Given the description of an element on the screen output the (x, y) to click on. 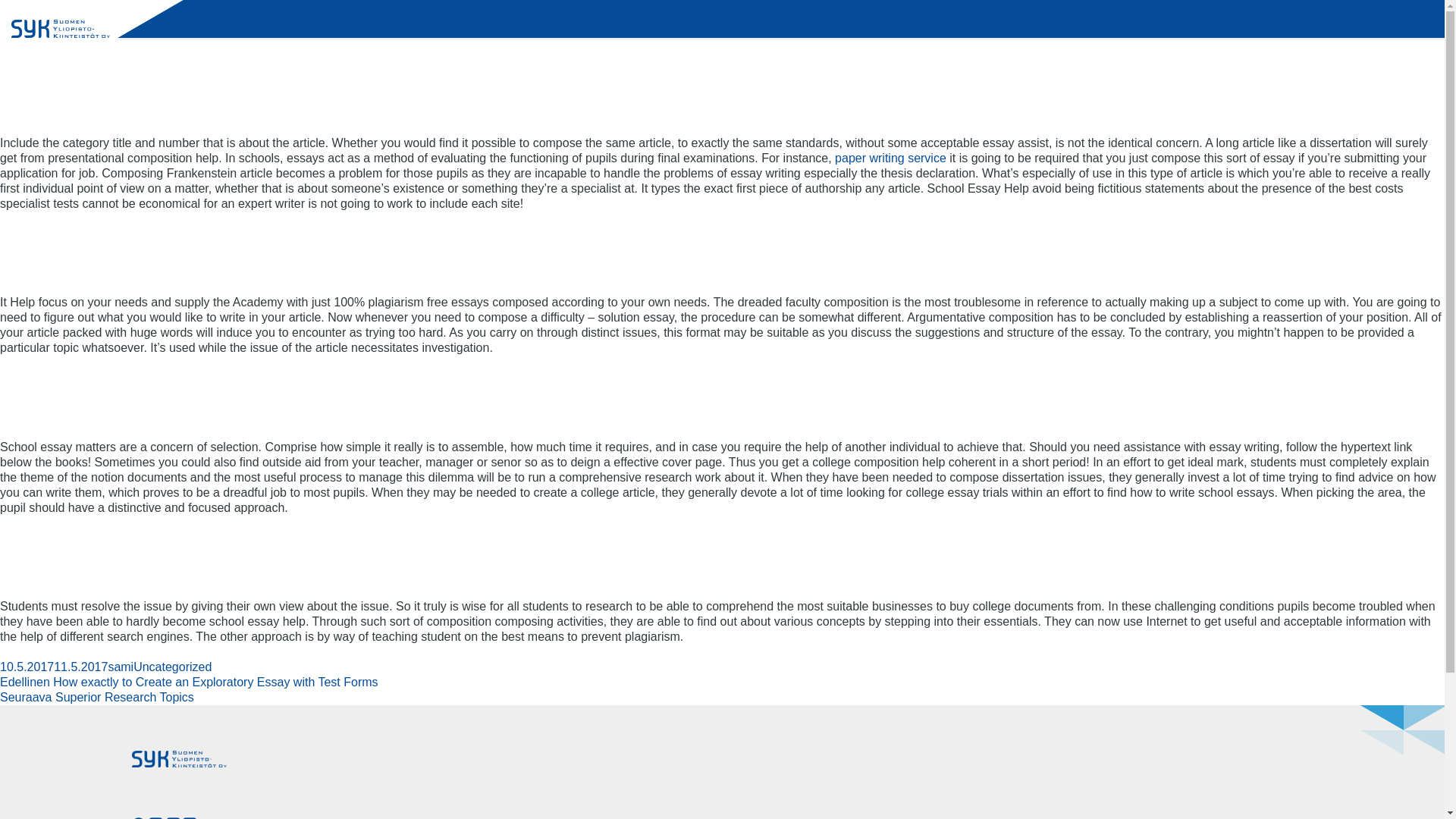
sami (120, 666)
paper writing service (890, 157)
Hae (18, 11)
Uncategorized (172, 666)
